Given the description of an element on the screen output the (x, y) to click on. 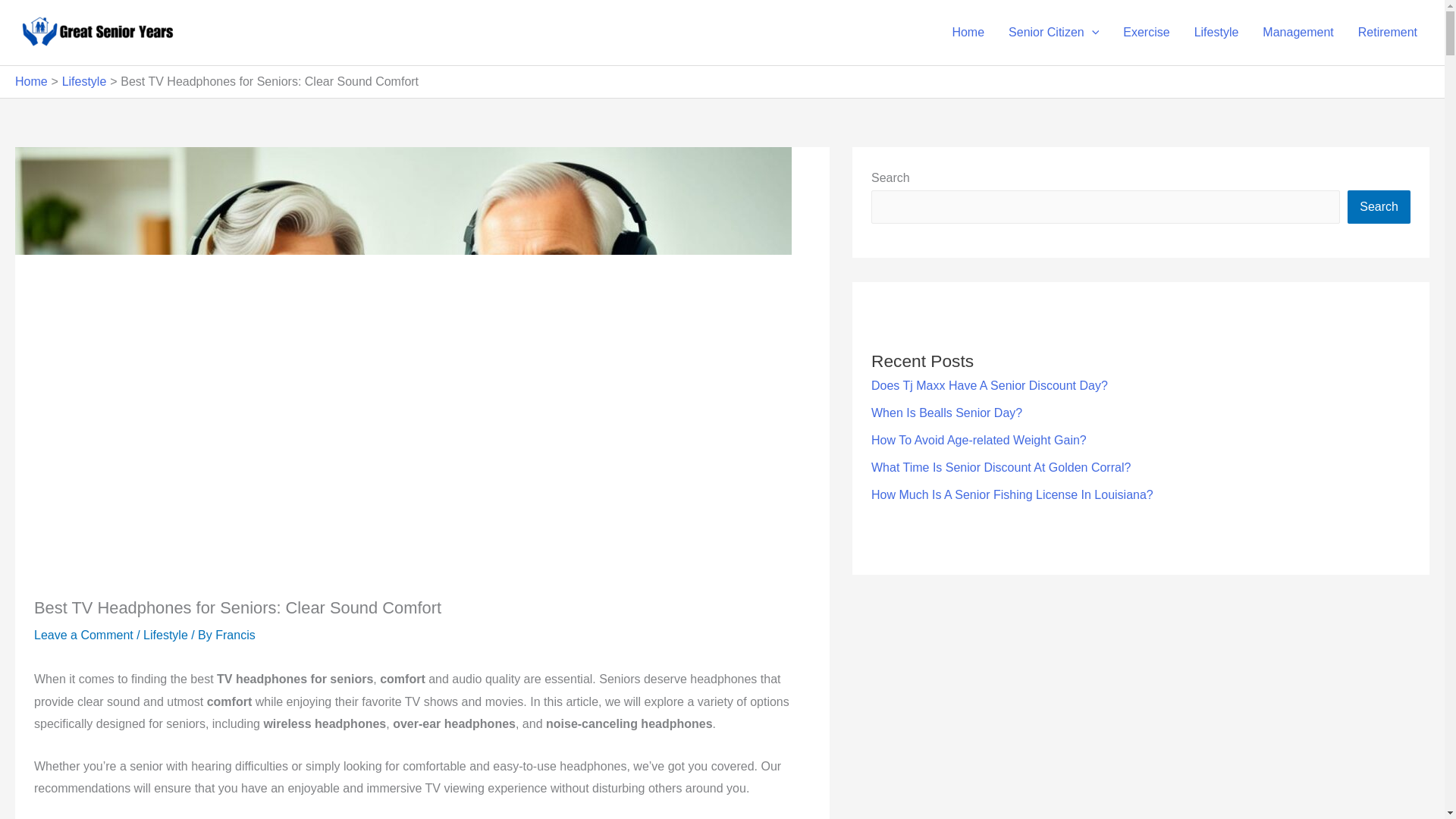
Lifestyle (164, 634)
Management (1297, 31)
Exercise (1145, 31)
Senior Citizen (1052, 31)
Lifestyle (84, 81)
Home (31, 81)
Lifestyle (1216, 31)
Francis (234, 634)
Leave a Comment (83, 634)
Home (967, 31)
